Given the description of an element on the screen output the (x, y) to click on. 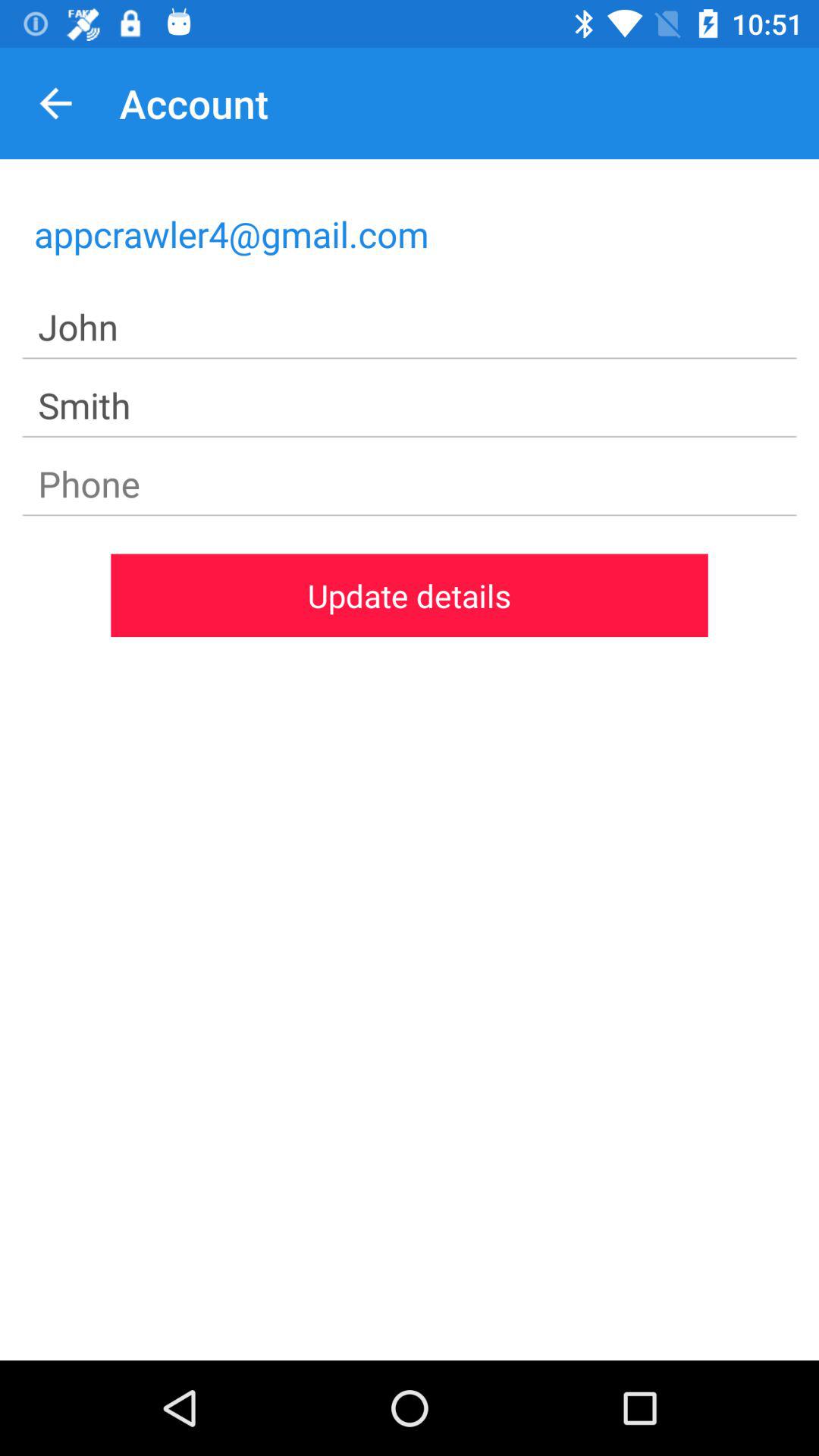
choose icon at the center (409, 595)
